Given the description of an element on the screen output the (x, y) to click on. 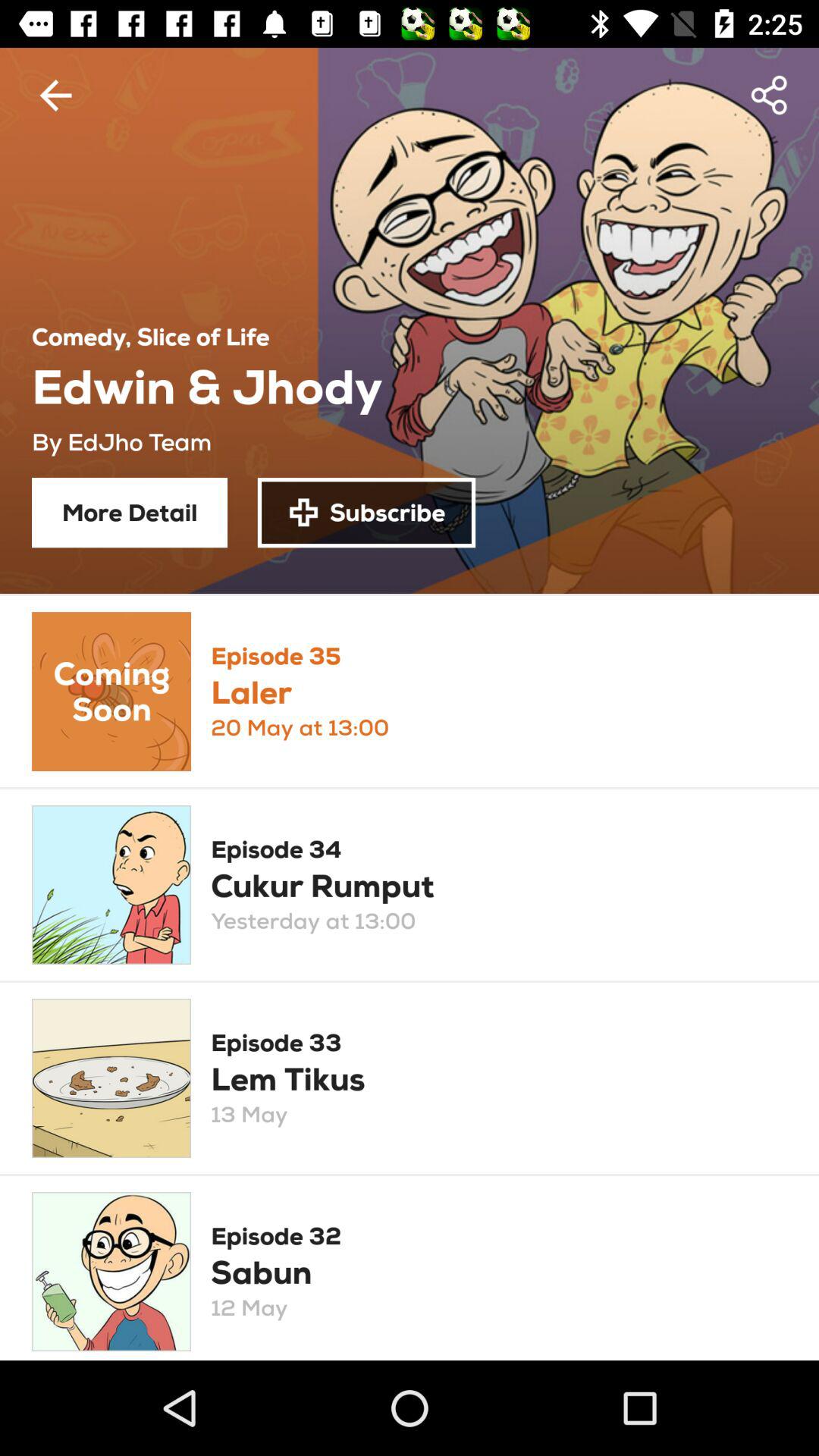
tap item at the top right corner (771, 95)
